Given the description of an element on the screen output the (x, y) to click on. 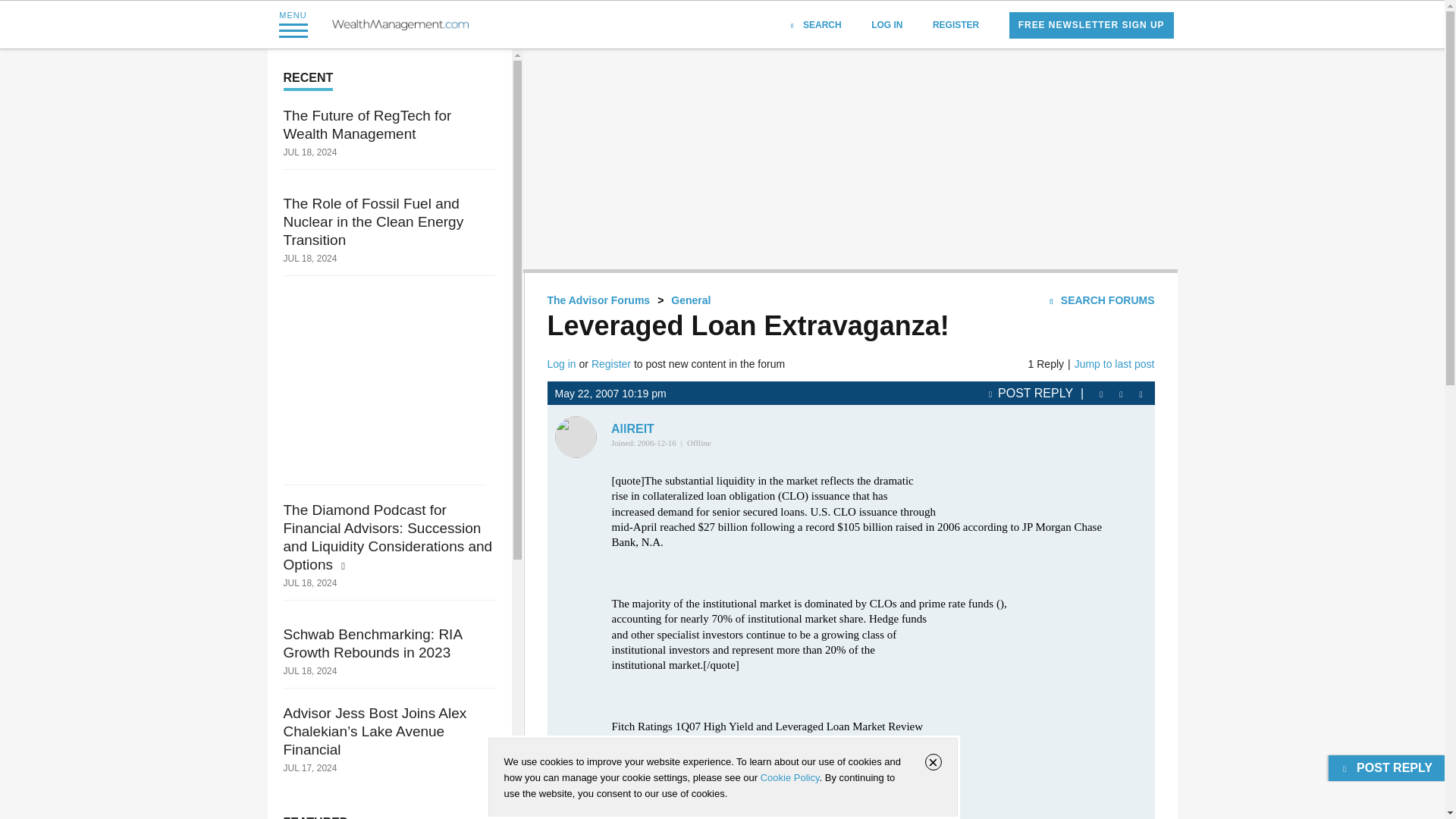
MENU (293, 24)
Cookie Policy (789, 777)
